Given the description of an element on the screen output the (x, y) to click on. 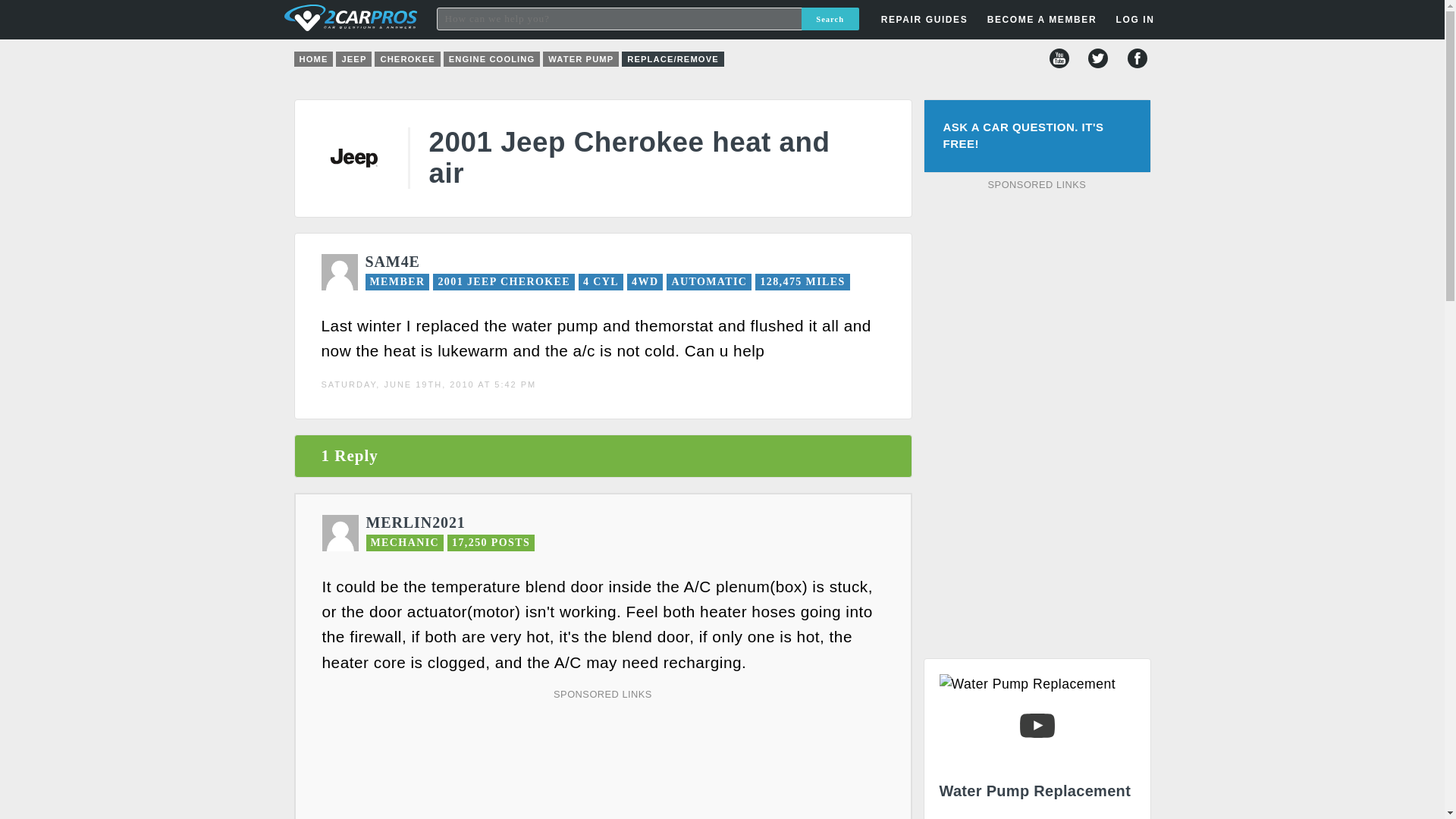
LOG IN (1048, 242)
Twitter (1097, 57)
YouTube (1058, 57)
BECOME A MEMBER (1041, 19)
ENGINE COOLING (492, 58)
HOME (313, 58)
JEEP (353, 58)
Facebook (1136, 57)
LOG IN (1134, 19)
Search (830, 18)
